Given the description of an element on the screen output the (x, y) to click on. 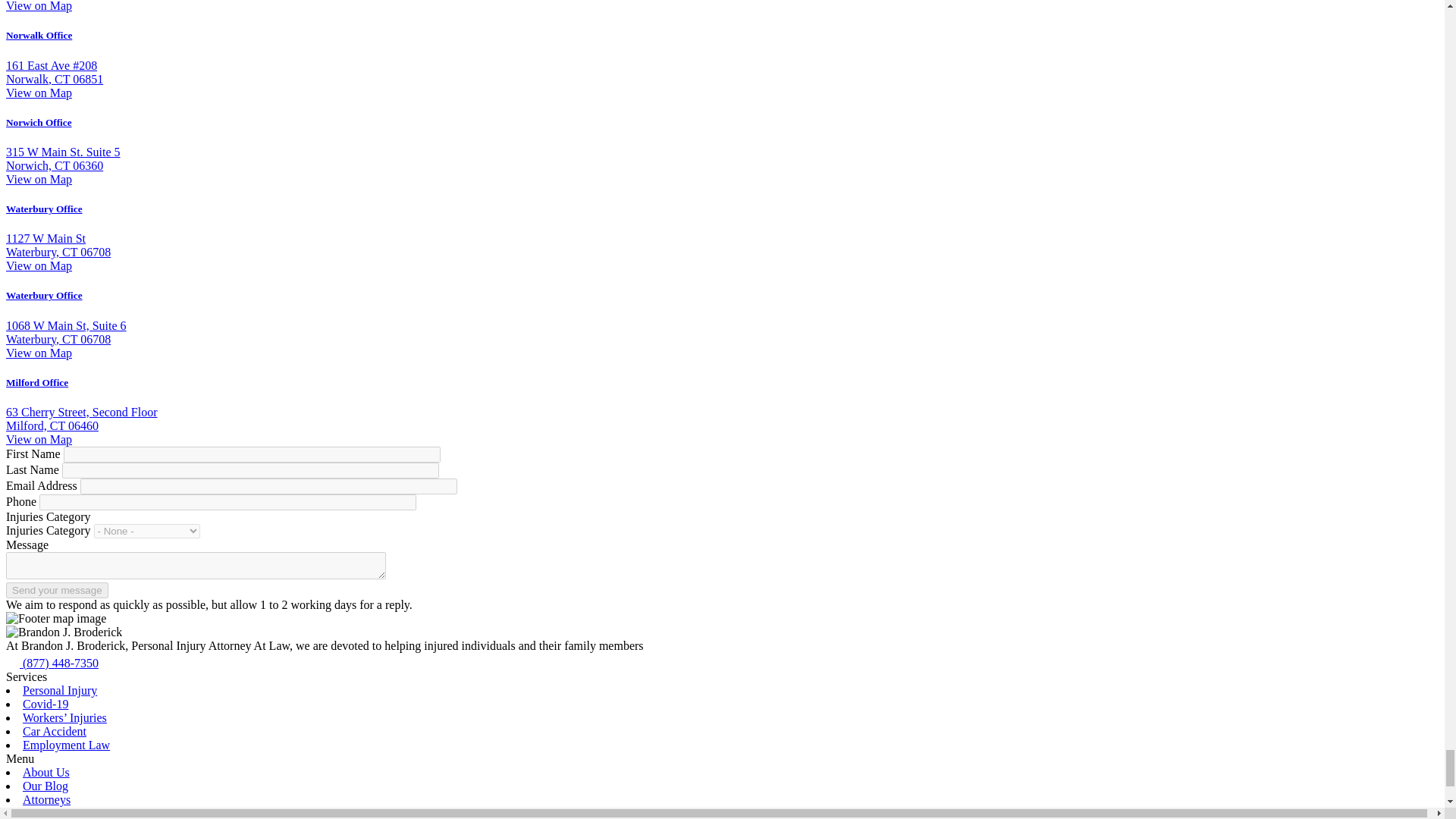
Send your message (56, 590)
